Given the description of an element on the screen output the (x, y) to click on. 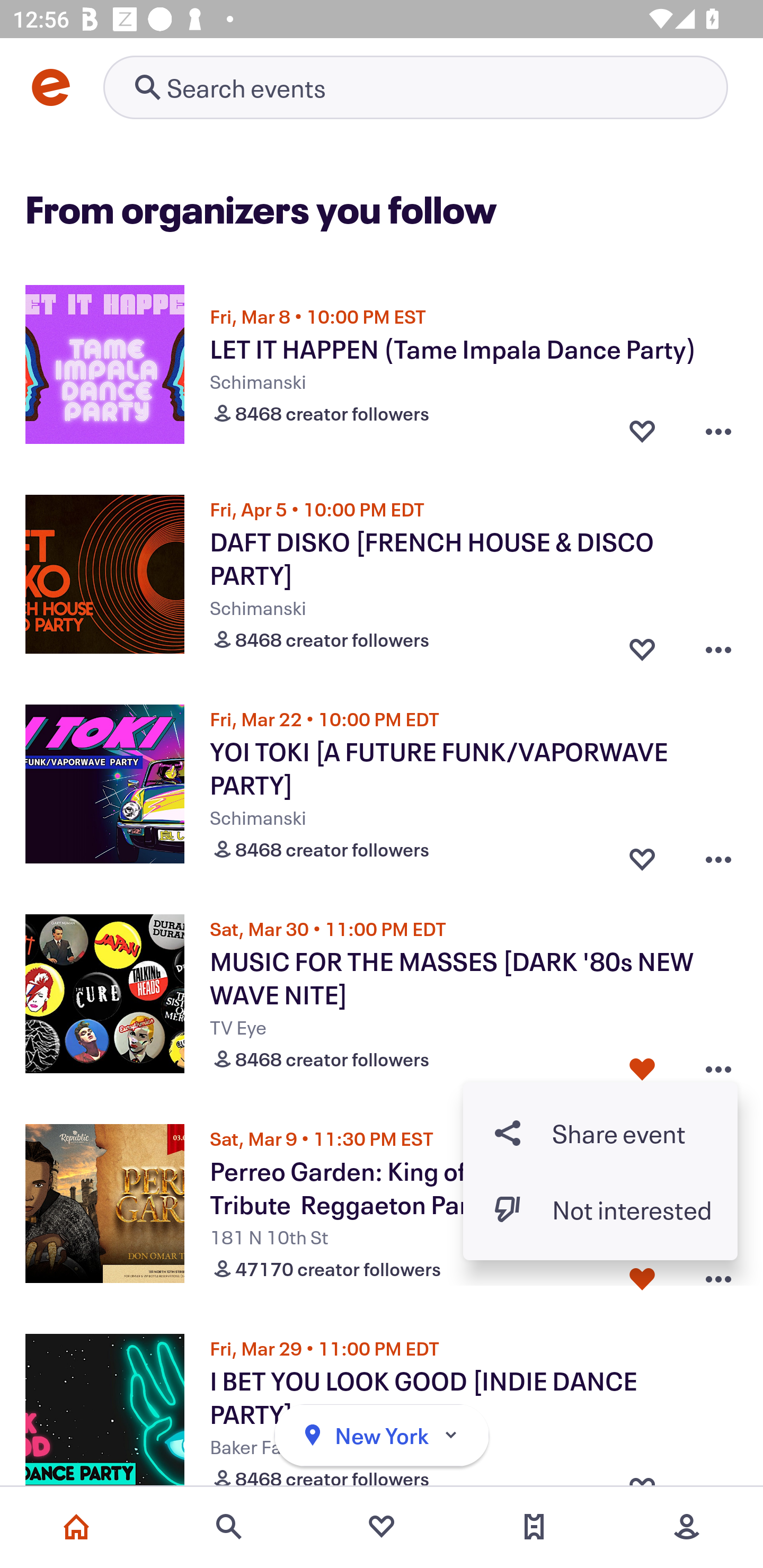
Share button Share event (600, 1132)
Dislike event button Not interested (600, 1209)
